Given the description of an element on the screen output the (x, y) to click on. 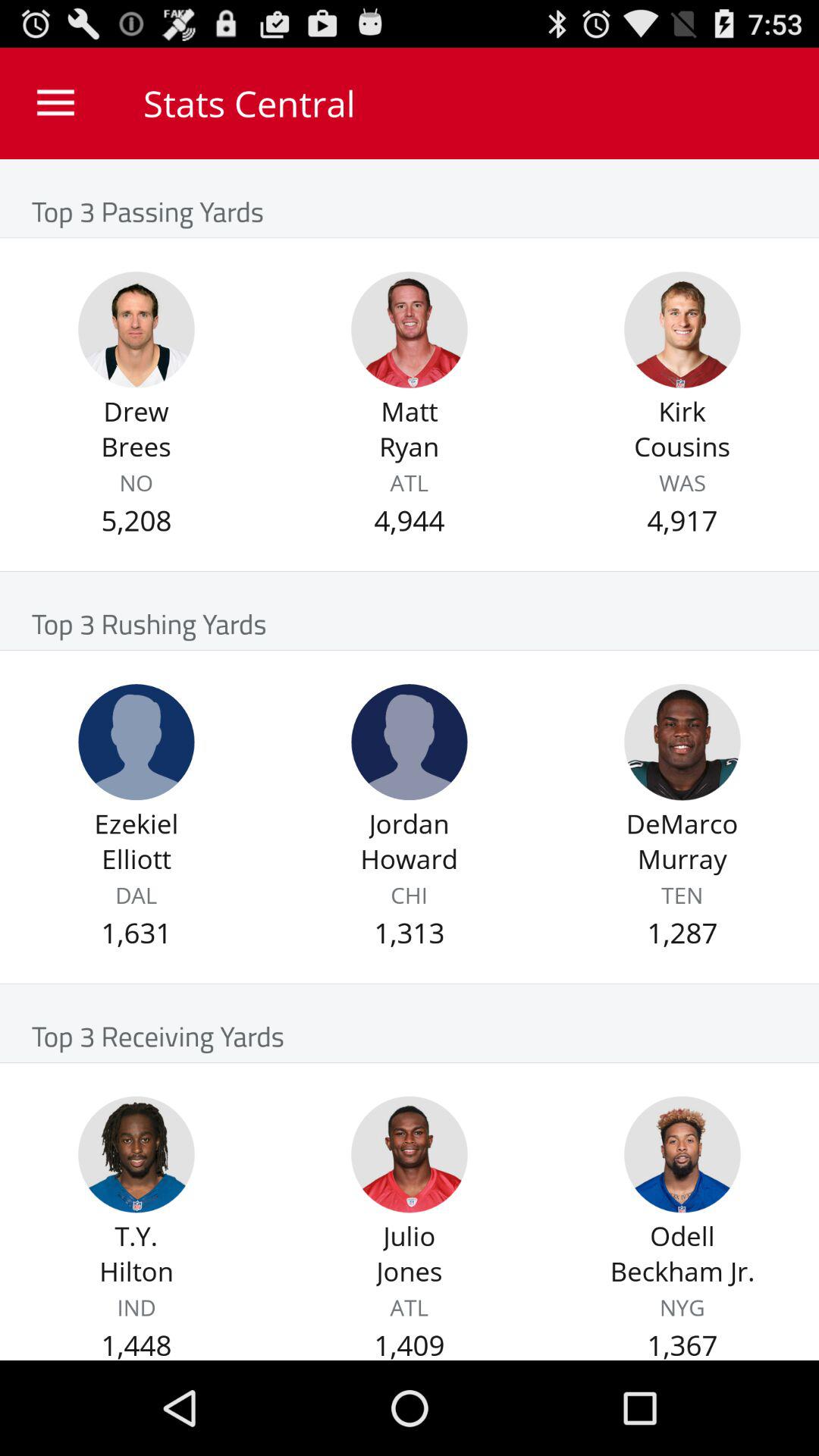
view julio jones profile (409, 1154)
